Given the description of an element on the screen output the (x, y) to click on. 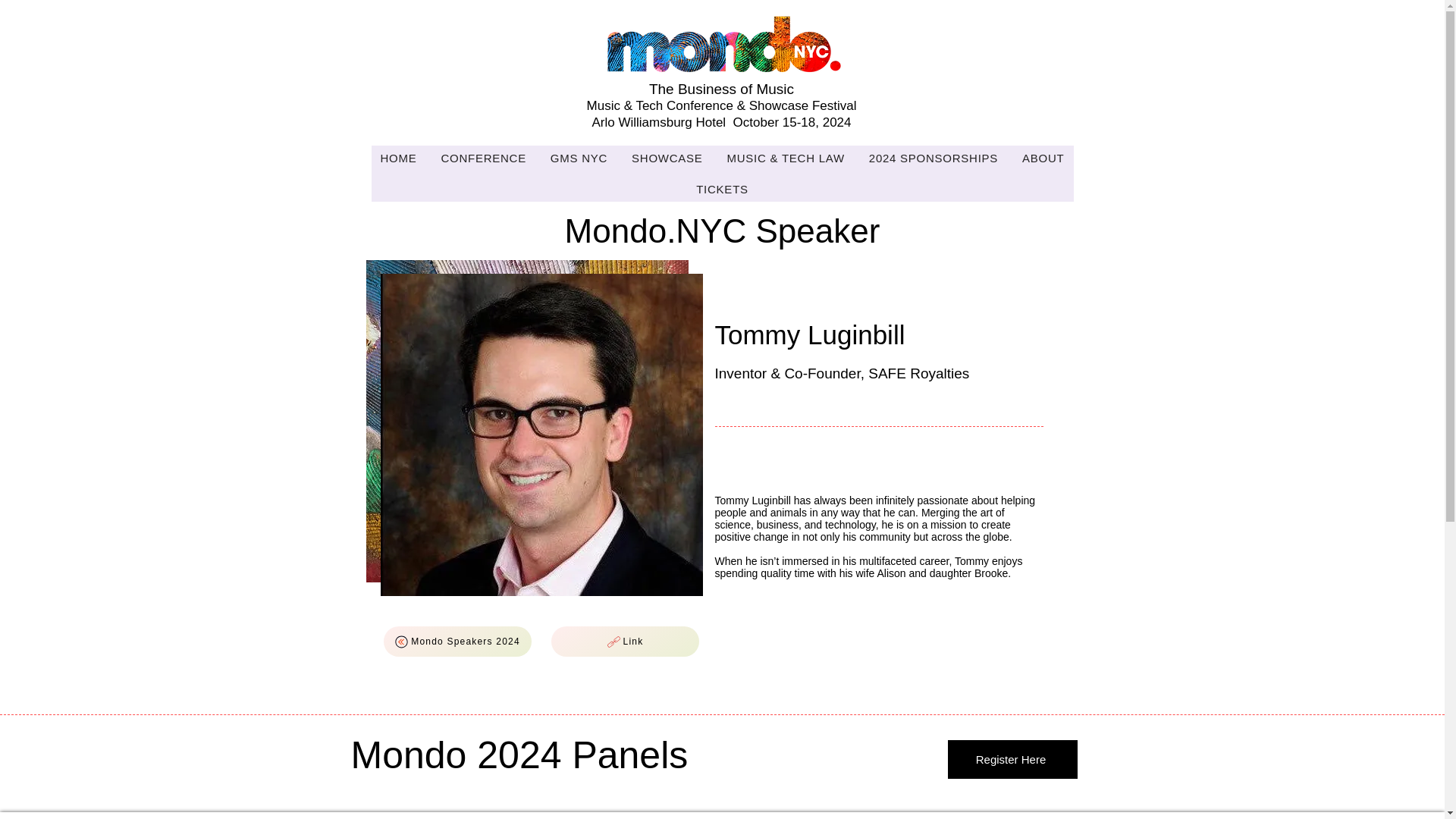
ABOUT (1043, 157)
HOME (398, 157)
Luginbill-Headshot.jpg (541, 434)
Link (624, 641)
CONFERENCE (482, 157)
TICKETS (722, 188)
SHOWCASE (667, 157)
Mondo Speakers 2024 (457, 641)
2024 SPONSORSHIPS (933, 157)
